Given the description of an element on the screen output the (x, y) to click on. 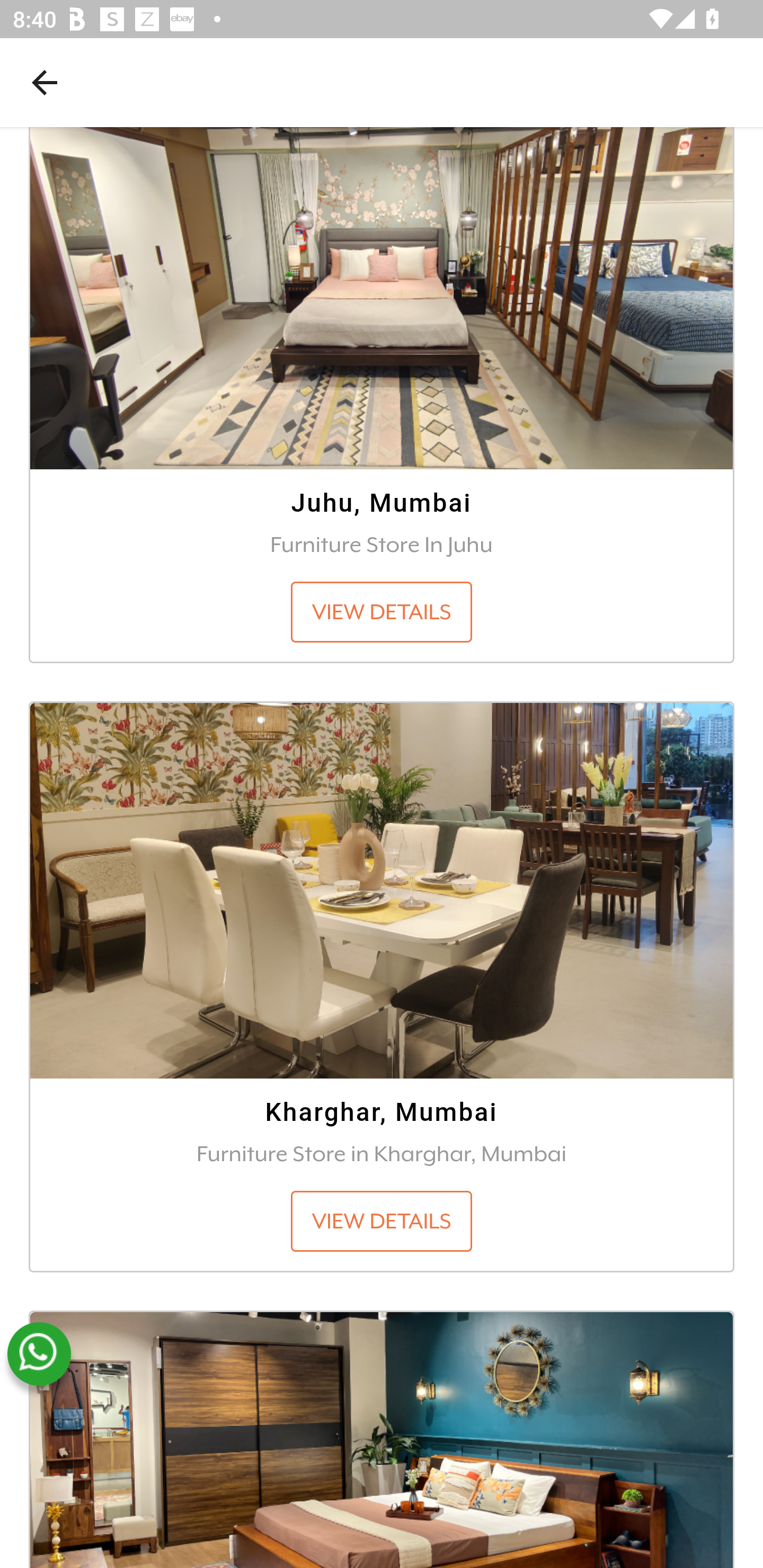
Navigate up (44, 82)
VIEW DETAILS (381, 612)
VIEW DETAILS (381, 1222)
whatsapp (38, 1355)
